Given the description of an element on the screen output the (x, y) to click on. 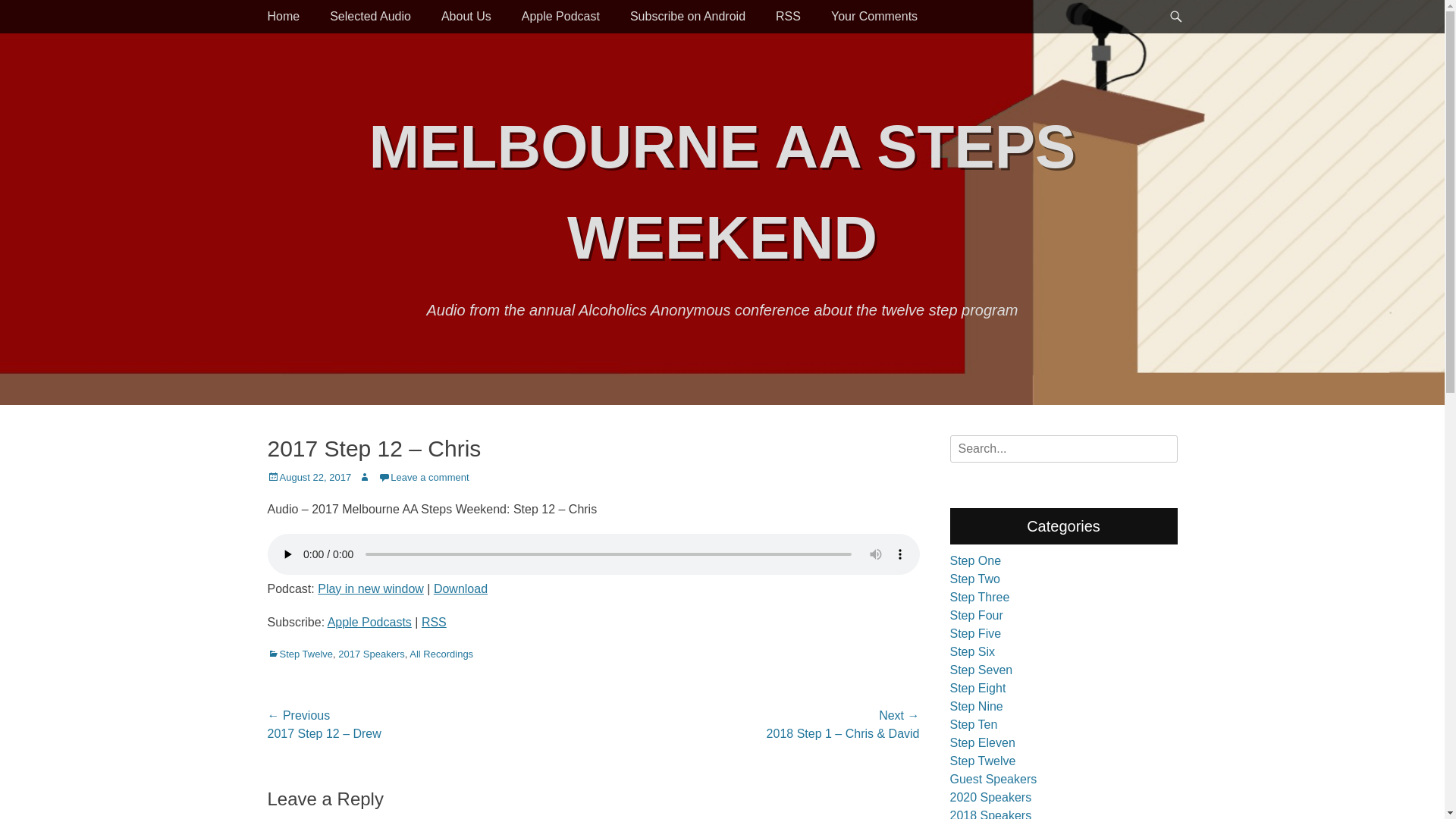
Step Four Element type: text (975, 614)
August 22, 2017 Element type: text (308, 477)
Step One Element type: text (975, 560)
All Recordings Element type: text (441, 652)
2020 Speakers Element type: text (990, 796)
Download Element type: text (460, 588)
Step Eleven Element type: text (981, 742)
Your Comments Element type: text (873, 16)
Apple Podcasts Element type: text (369, 621)
Play in new window Element type: text (370, 588)
About Us Element type: text (466, 16)
RSS Element type: text (787, 16)
Apple Podcast Element type: text (560, 16)
Leave a comment Element type: text (423, 477)
Step Seven Element type: text (980, 669)
Step Five Element type: text (975, 633)
2017 Speakers Element type: text (371, 652)
Subscribe on Android Element type: text (687, 16)
RSS Element type: text (433, 621)
Search for: Element type: hover (1062, 448)
Search Element type: text (31, 16)
Step Six Element type: text (971, 651)
Step Two Element type: text (974, 578)
Selected Audio Element type: text (370, 16)
Step Eight Element type: text (977, 687)
Step Ten Element type: text (973, 724)
Step Nine Element type: text (975, 705)
Home Element type: text (282, 16)
Step Twelve Element type: text (299, 652)
Step Twelve Element type: text (982, 760)
Step Three Element type: text (979, 596)
Guest Speakers Element type: text (992, 778)
MELBOURNE AA STEPS WEEKEND Element type: text (722, 191)
